Given the description of an element on the screen output the (x, y) to click on. 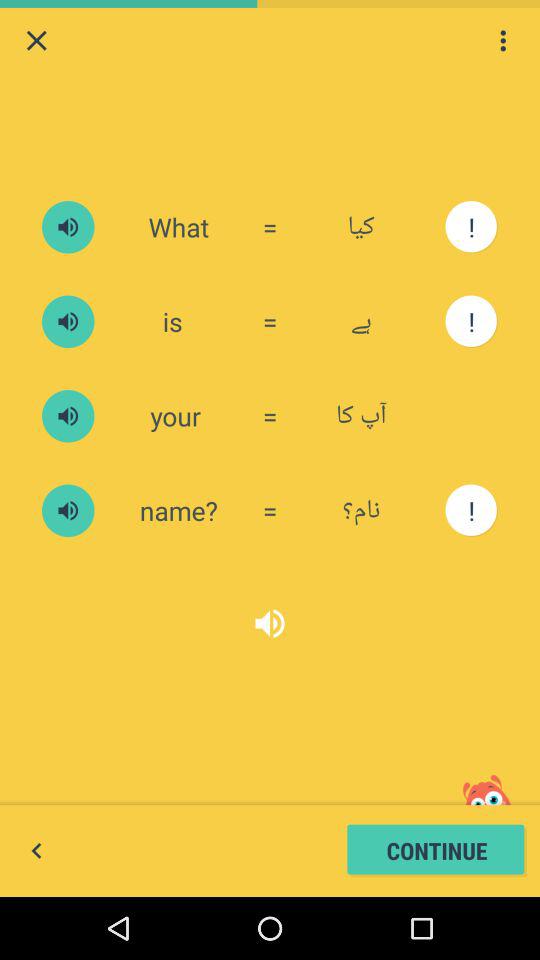
hear the word (68, 227)
